Given the description of an element on the screen output the (x, y) to click on. 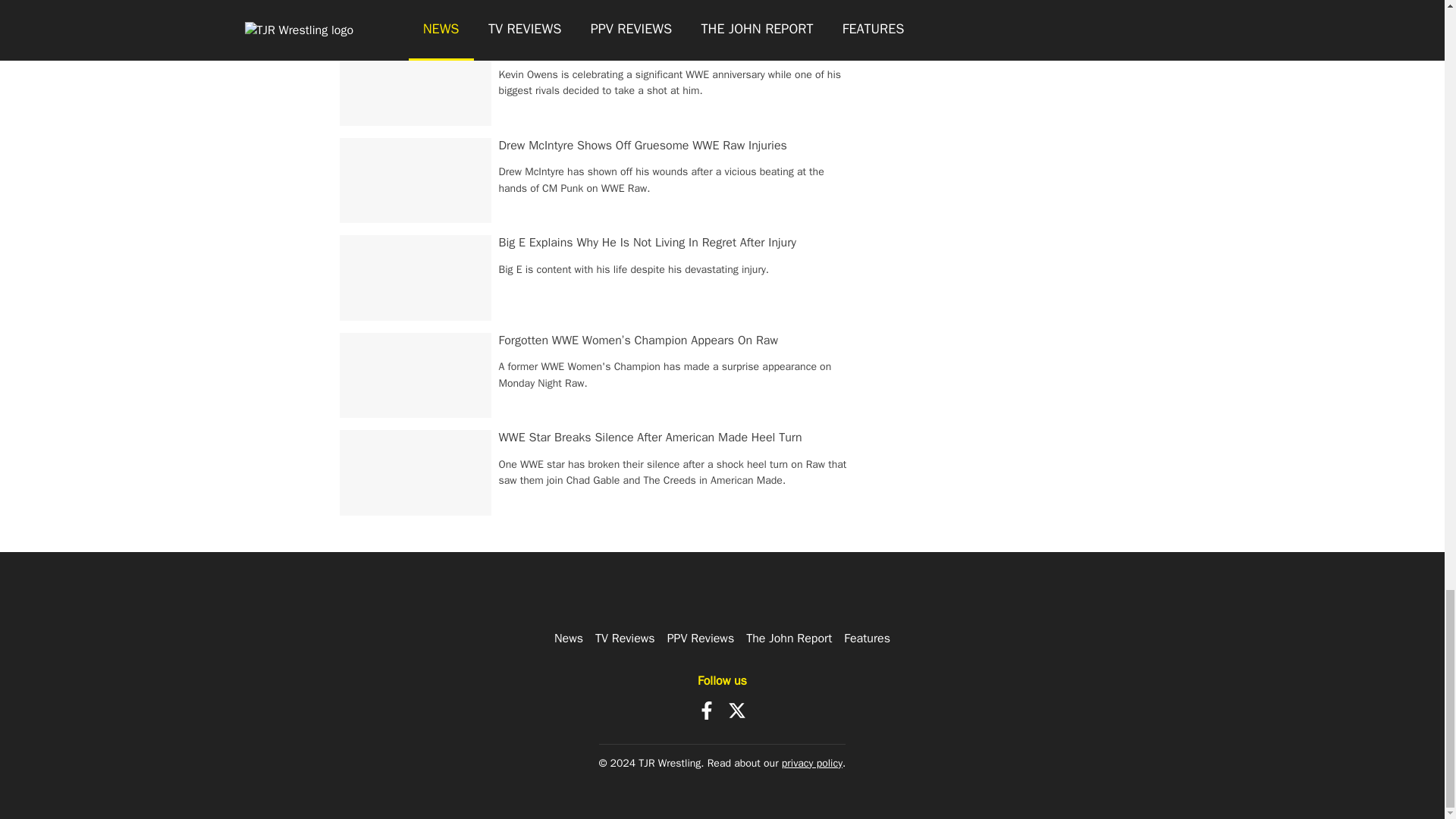
X (736, 710)
Kevin Owens Celebrates WWE Anniversary, Rival Fires Insult (657, 47)
Facebook (706, 710)
Big E Explains Why He Is Not Living In Regret After Injury (647, 242)
Drew McIntyre Shows Off Gruesome WWE Raw Injuries (643, 145)
